Given the description of an element on the screen output the (x, y) to click on. 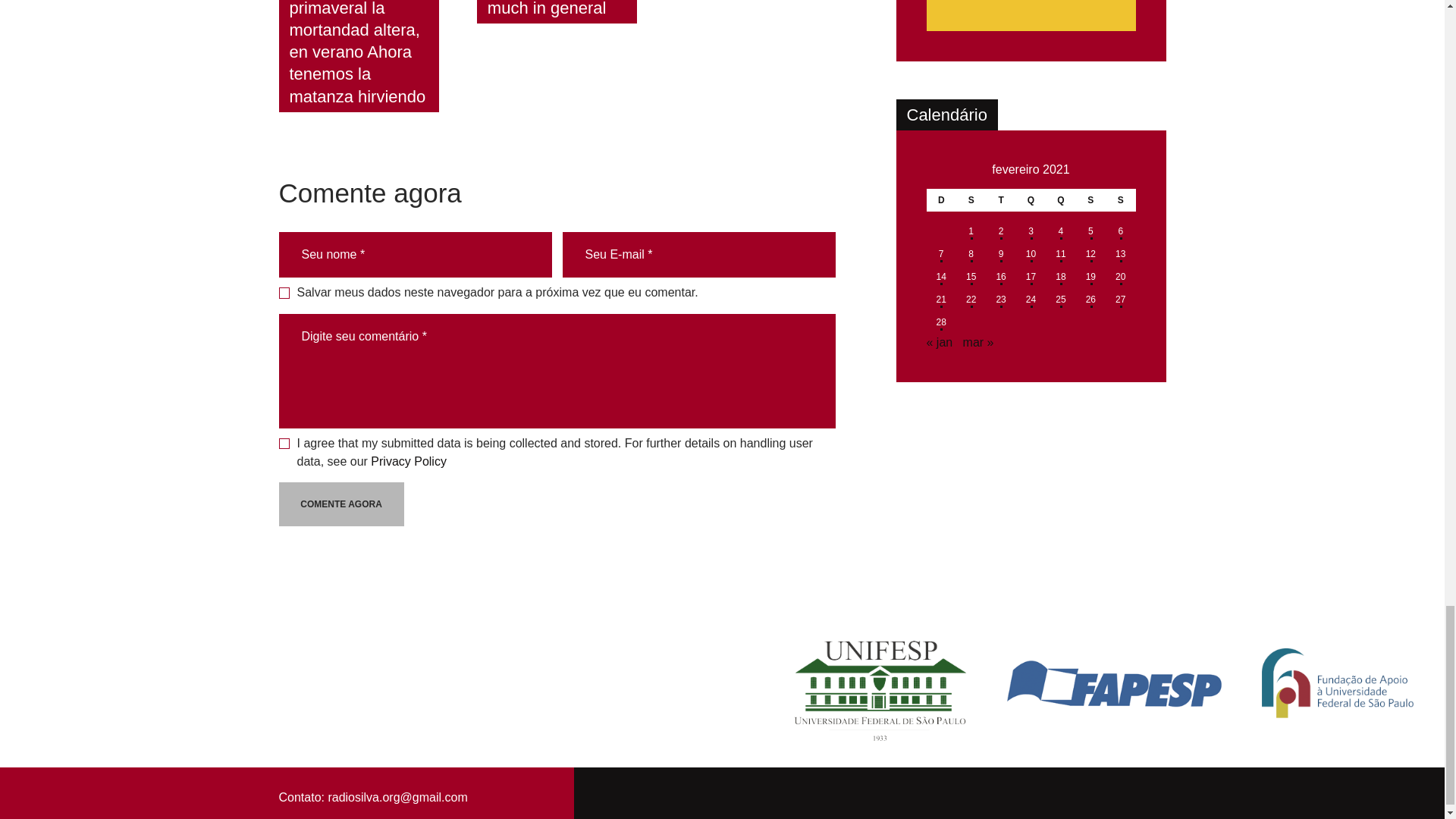
Privacy Policy (408, 461)
Comente agora (341, 504)
domingo (941, 200)
segunda-feira (970, 200)
quarta-feira (1030, 200)
Comente agora (341, 504)
sexta-feira (1090, 200)
quinta-feira (1060, 200)
